Given the description of an element on the screen output the (x, y) to click on. 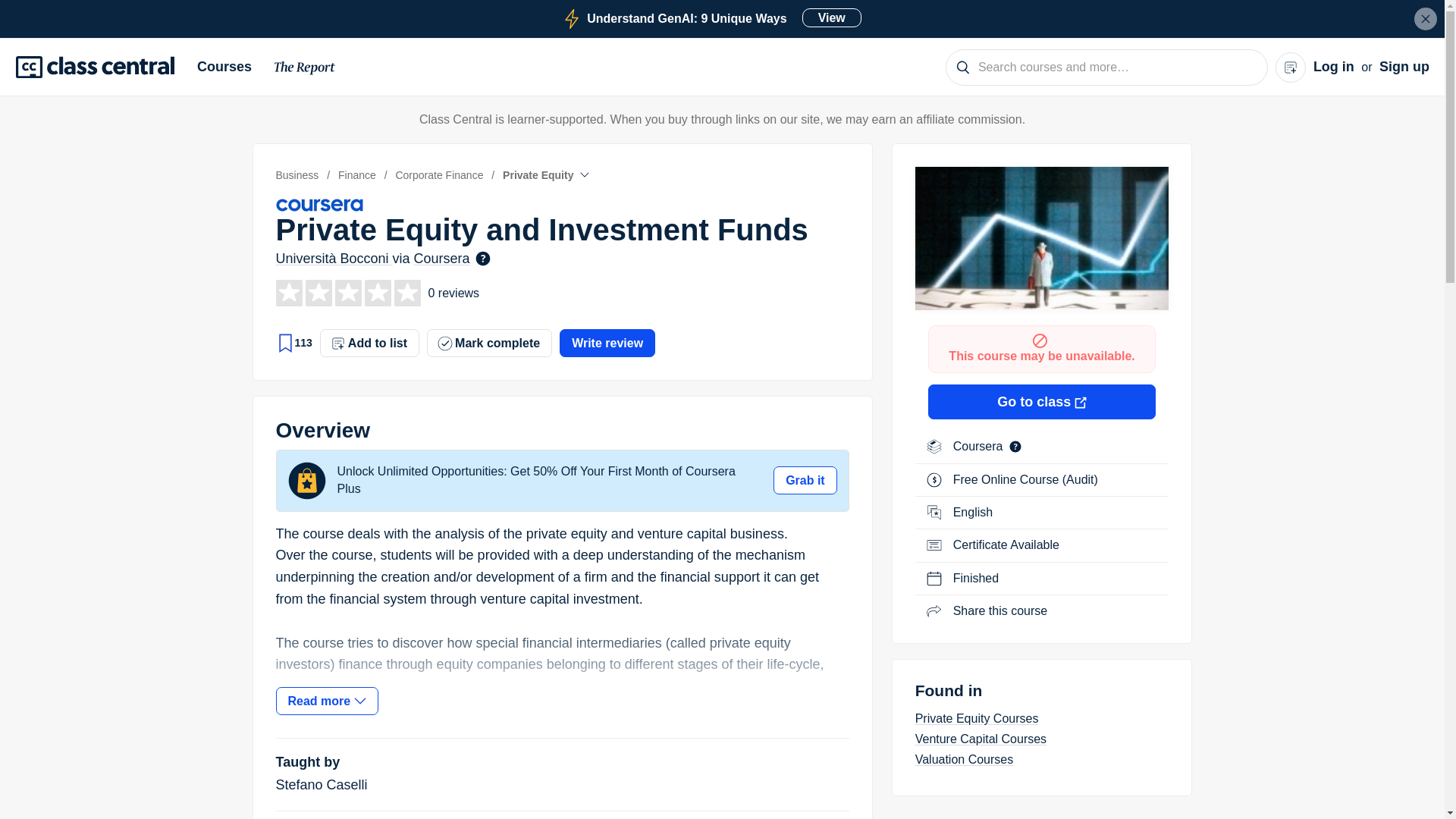
List of Coursera MOOCs (979, 445)
Courses (710, 18)
The Report (229, 66)
Close (304, 69)
List of Coursera MOOCs (1425, 18)
